Given the description of an element on the screen output the (x, y) to click on. 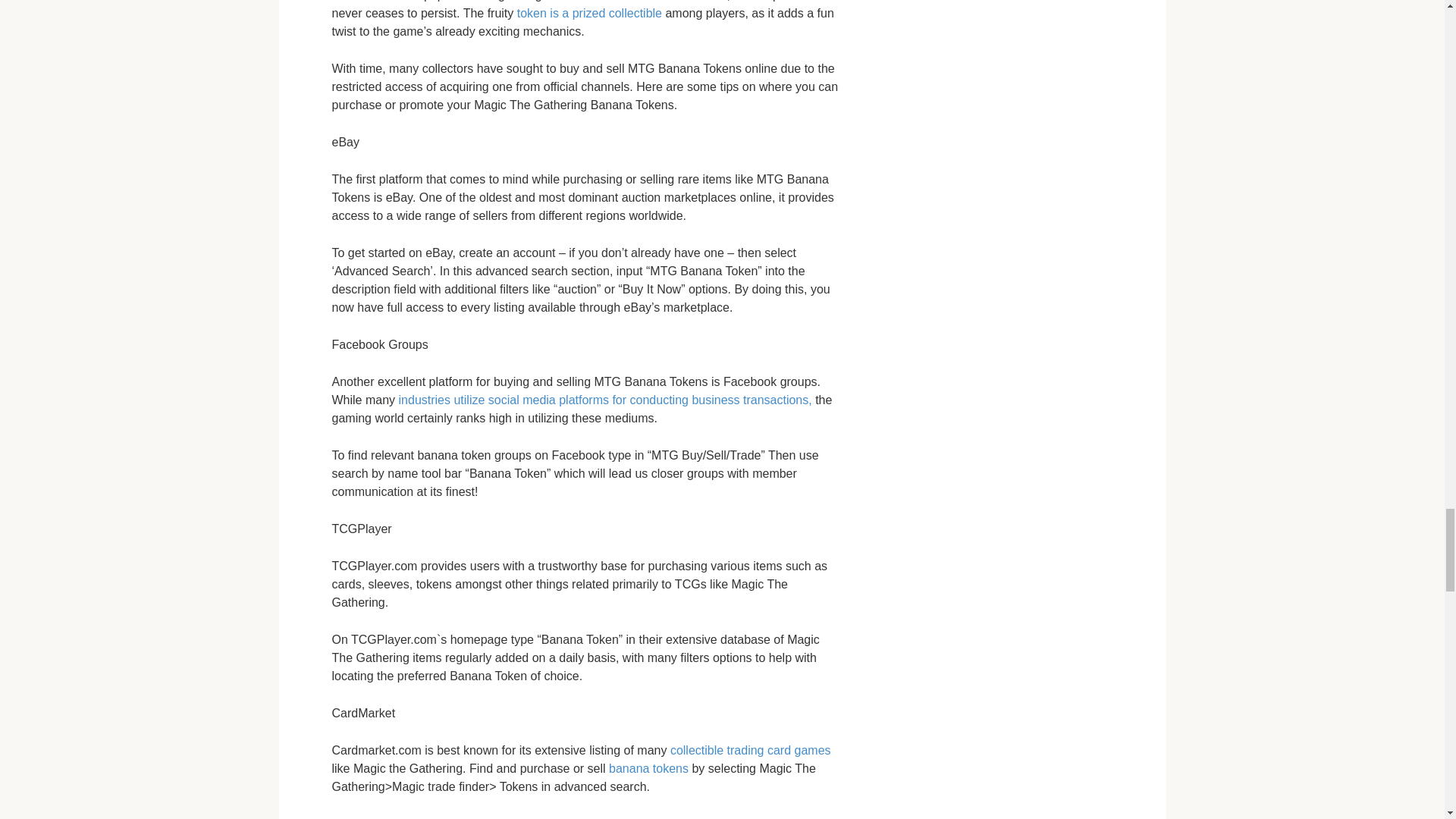
banana tokens (648, 768)
collectible trading card games (750, 749)
token is a prized collectible (589, 12)
